Given the description of an element on the screen output the (x, y) to click on. 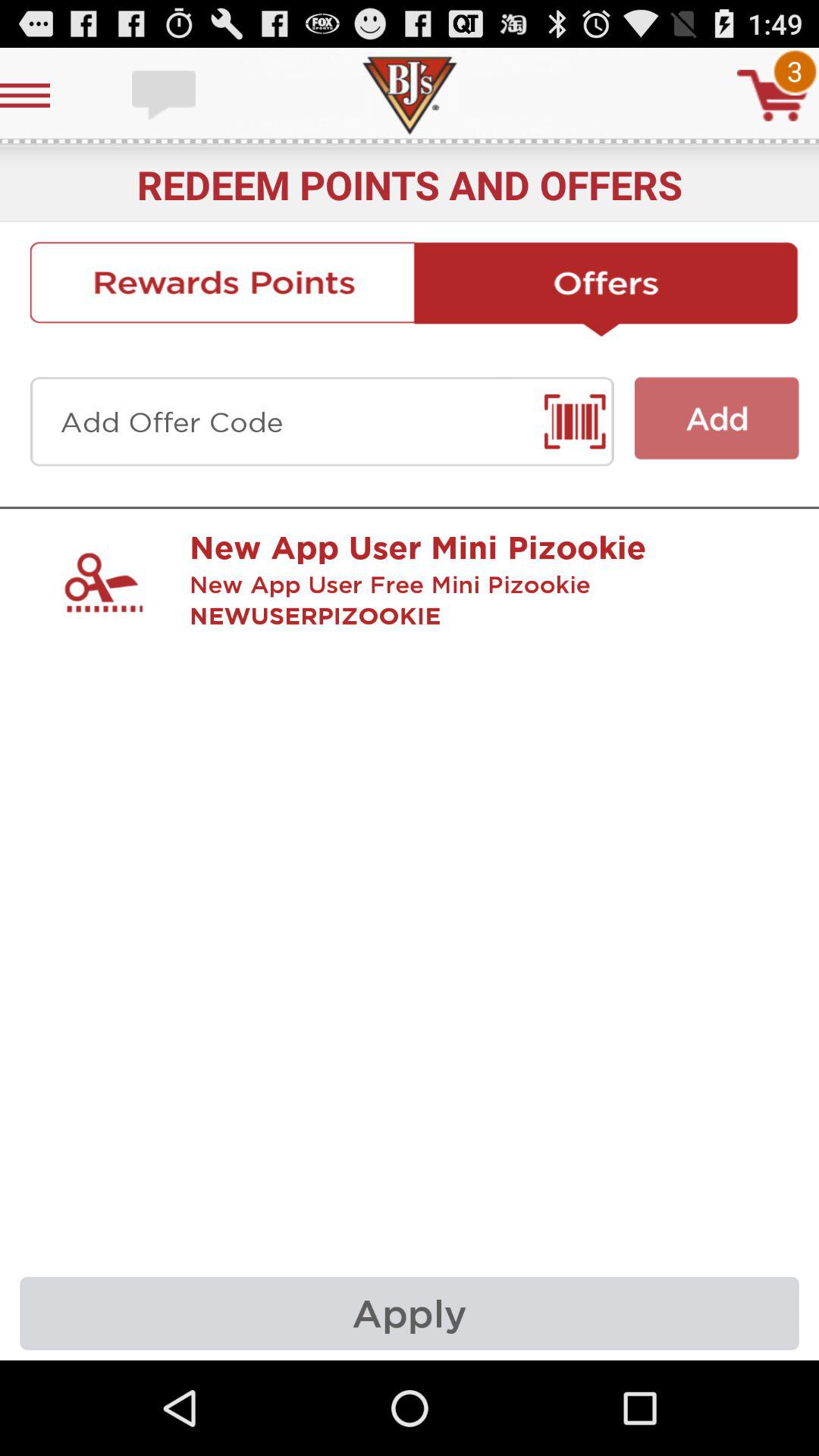
click on add button (716, 418)
